Given the description of an element on the screen output the (x, y) to click on. 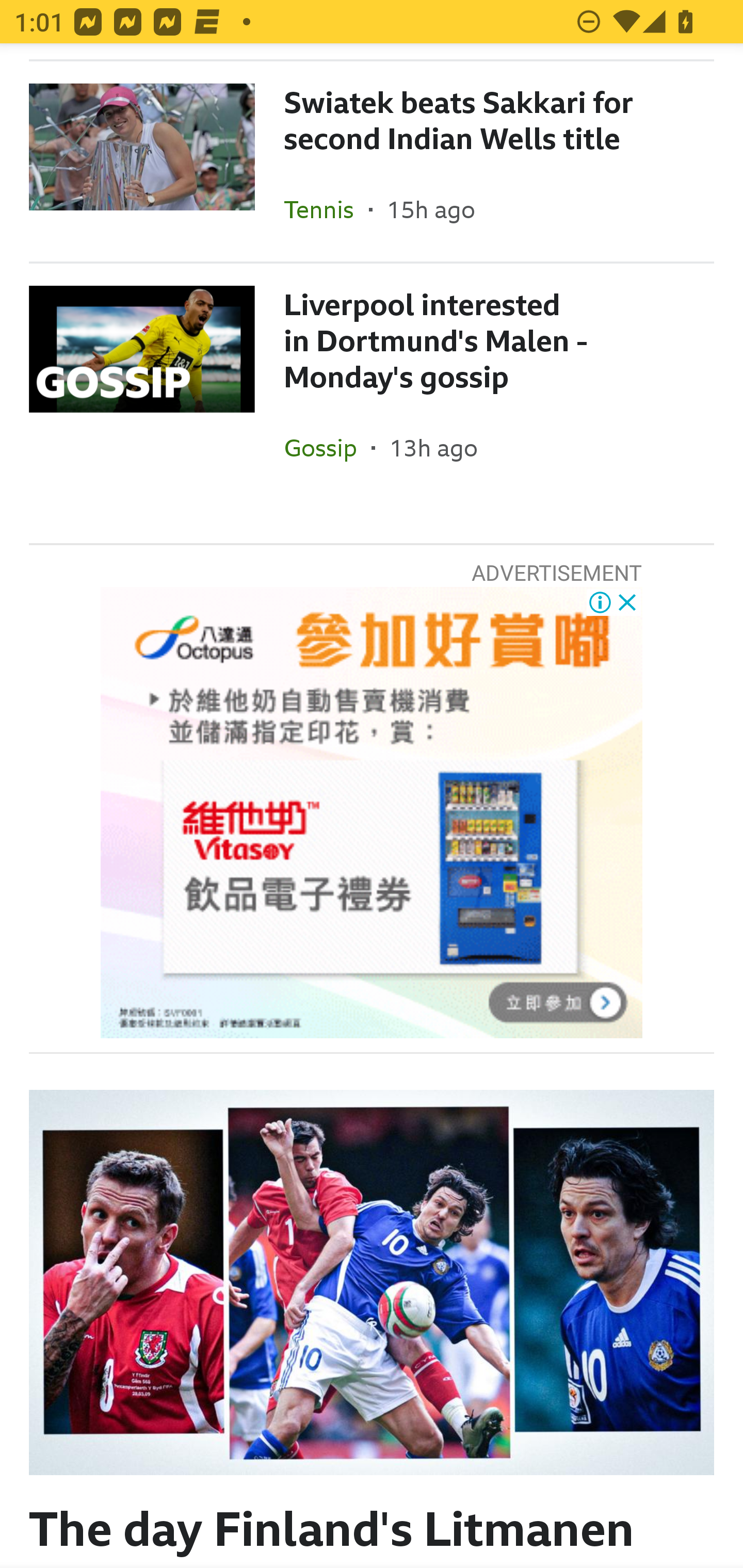
Tennis In the section Tennis (326, 208)
Advertisement (371, 812)
The day Finland's Litmanen walked Wales ragged (371, 1310)
